Given the description of an element on the screen output the (x, y) to click on. 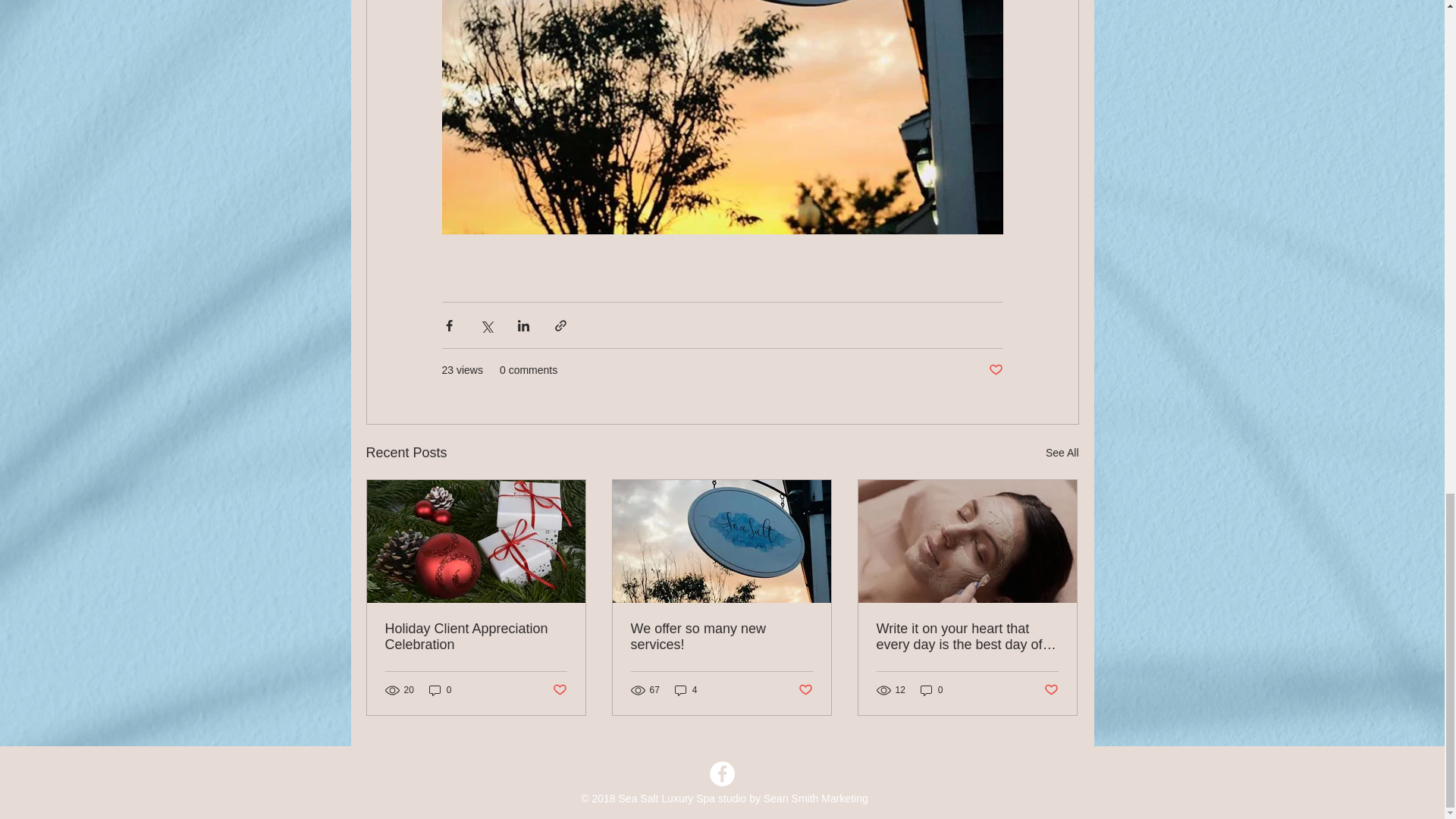
Post not marked as liked (558, 690)
Post not marked as liked (995, 370)
We offer so many new services! (721, 636)
Holiday Client Appreciation Celebration (476, 636)
0 (440, 689)
See All (1061, 453)
4 (685, 689)
